Given the description of an element on the screen output the (x, y) to click on. 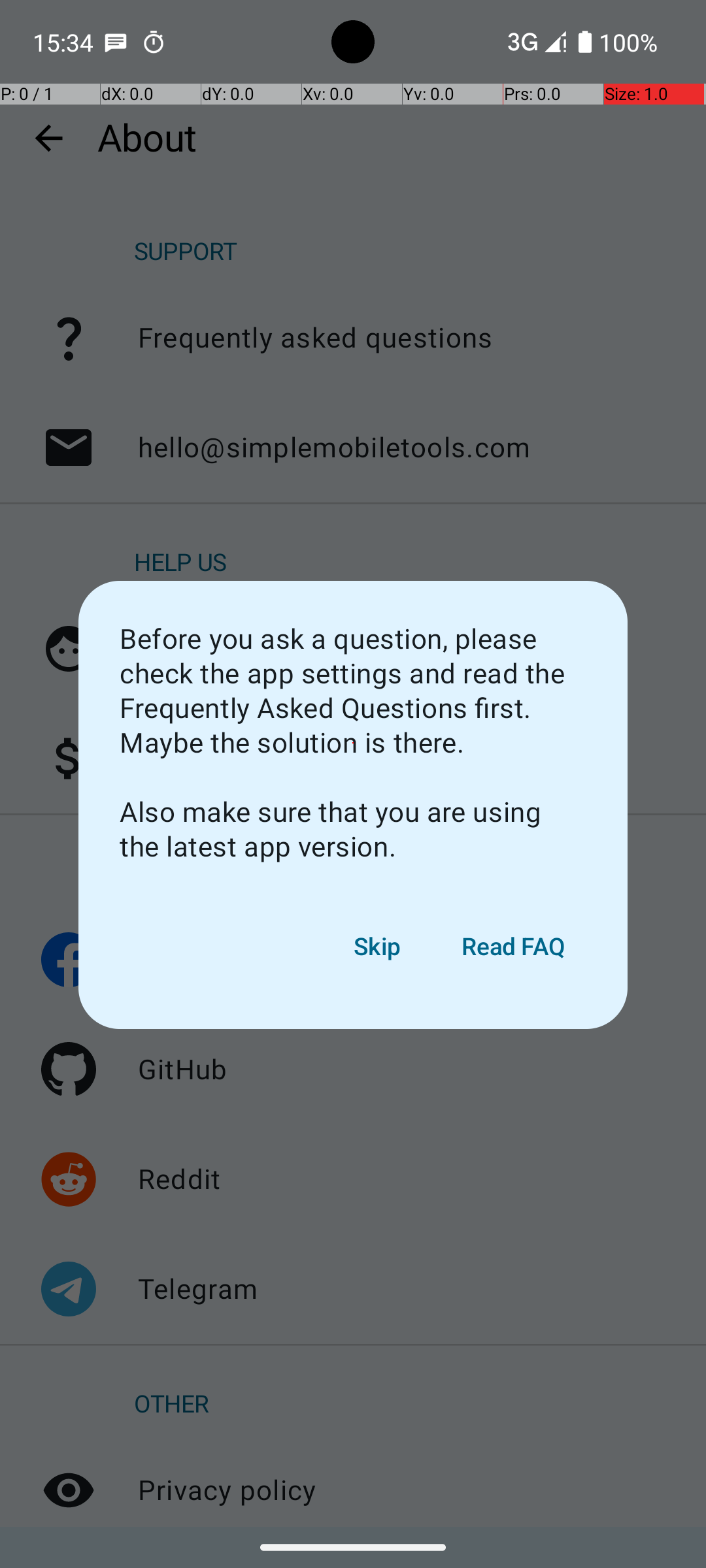
Before you ask a question, please check the app settings and read the Frequently Asked Questions first. Maybe the solution is there.

Also make sure that you are using the latest app version. Element type: android.widget.TextView (352, 742)
Skip Element type: android.widget.TextView (377, 946)
Read FAQ Element type: android.widget.TextView (513, 946)
